Given the description of an element on the screen output the (x, y) to click on. 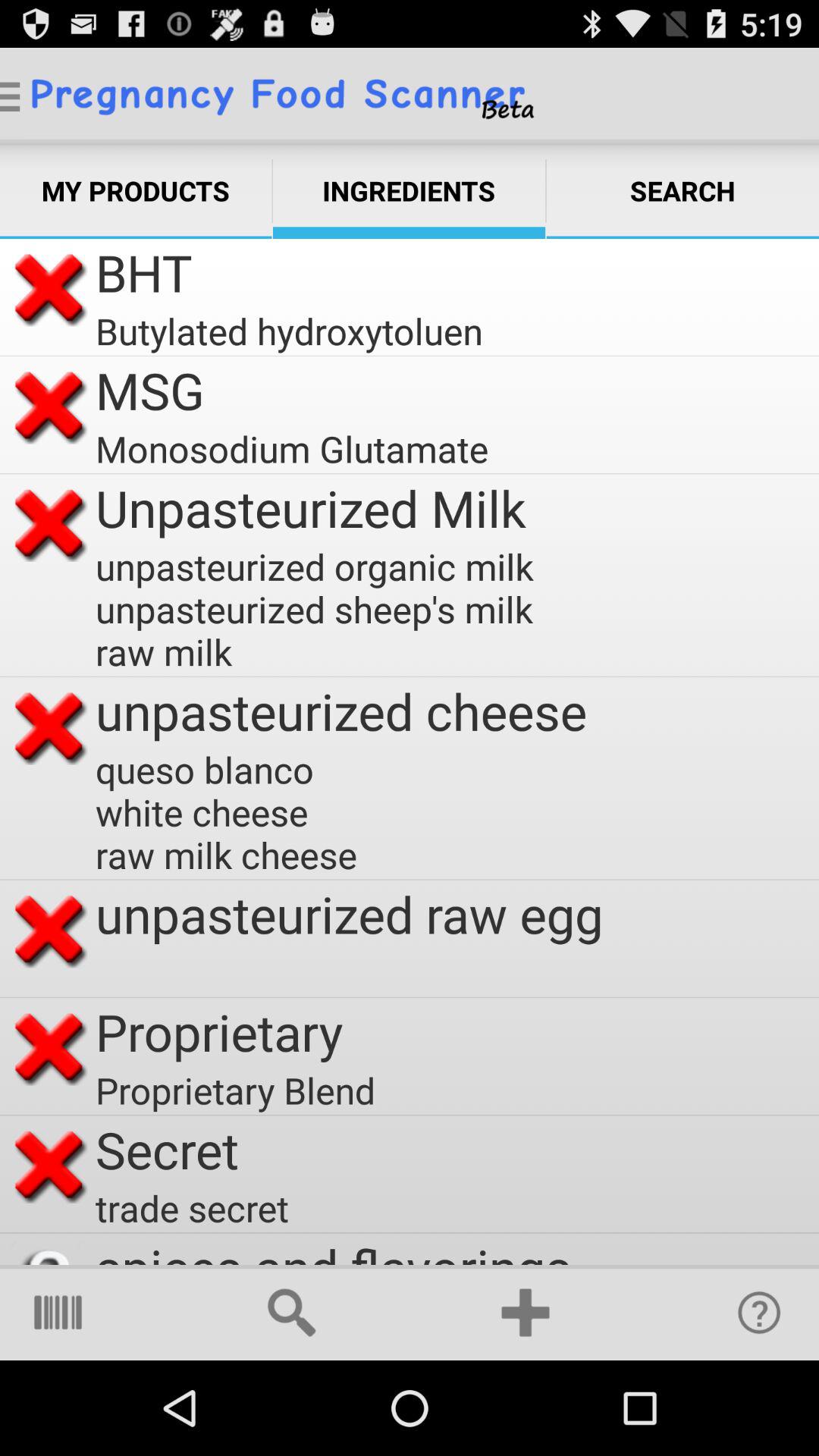
select the trade secret icon (191, 1207)
